Given the description of an element on the screen output the (x, y) to click on. 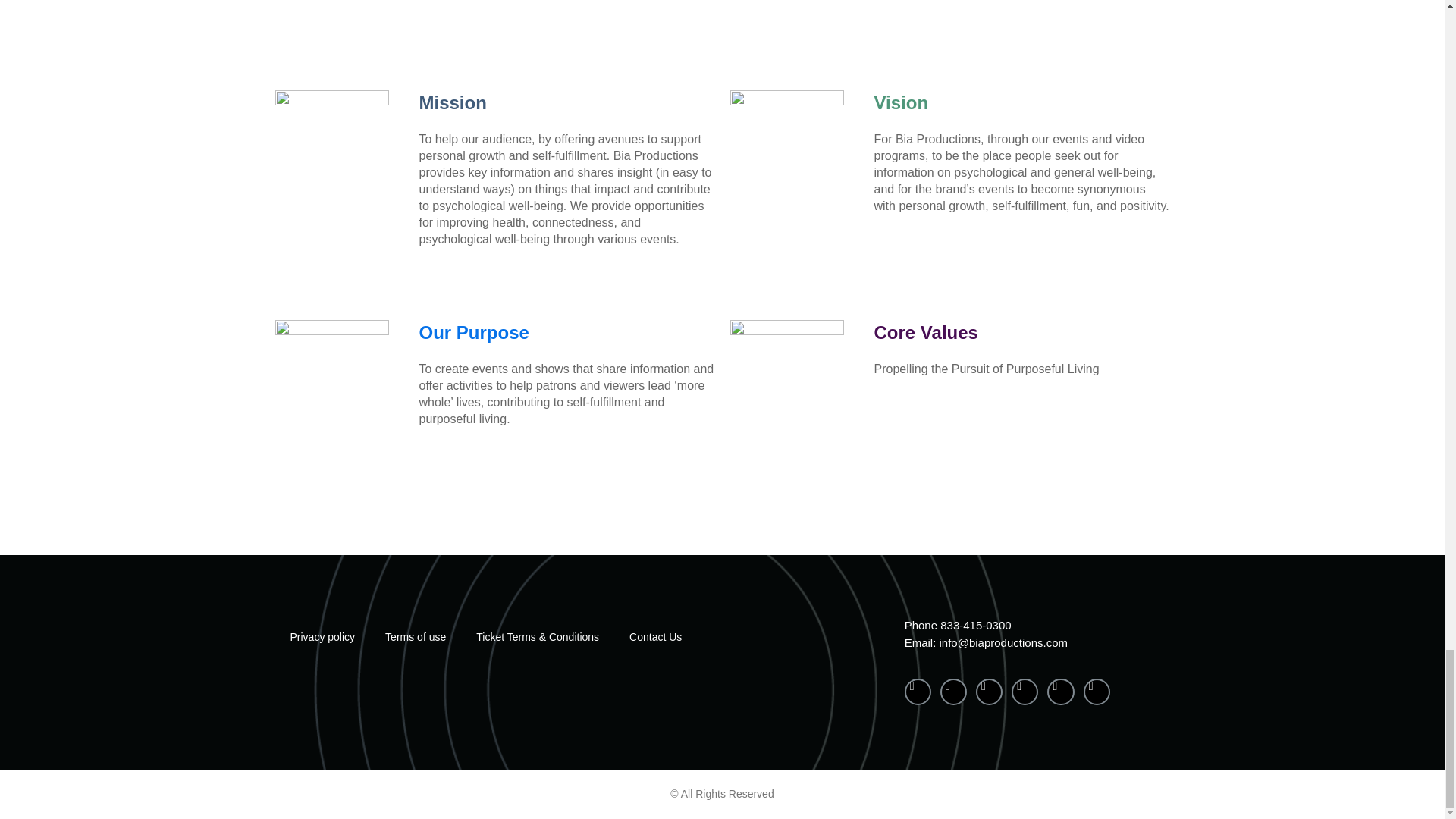
Privacy policy (322, 636)
Contact Us (655, 636)
Terms of use (415, 636)
